Given the description of an element on the screen output the (x, y) to click on. 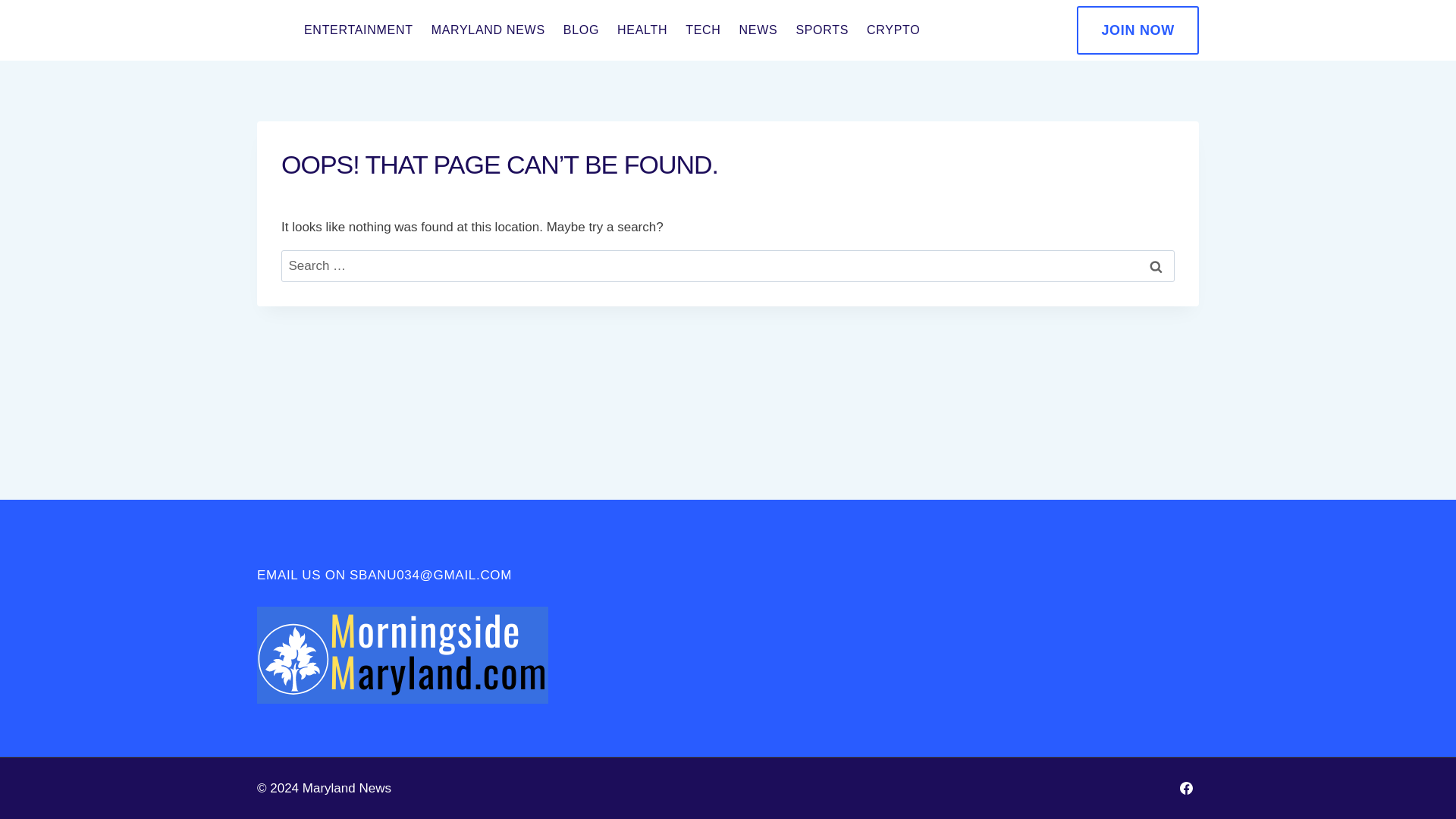
Search (1155, 266)
Search (1155, 266)
BLOG (581, 30)
HEALTH (642, 30)
TECH (703, 30)
NEWS (758, 30)
SPORTS (821, 30)
ENTERTAINMENT (358, 30)
CRYPTO (892, 30)
MARYLAND NEWS (488, 30)
JOIN NOW (1137, 30)
Search (1155, 266)
